Given the description of an element on the screen output the (x, y) to click on. 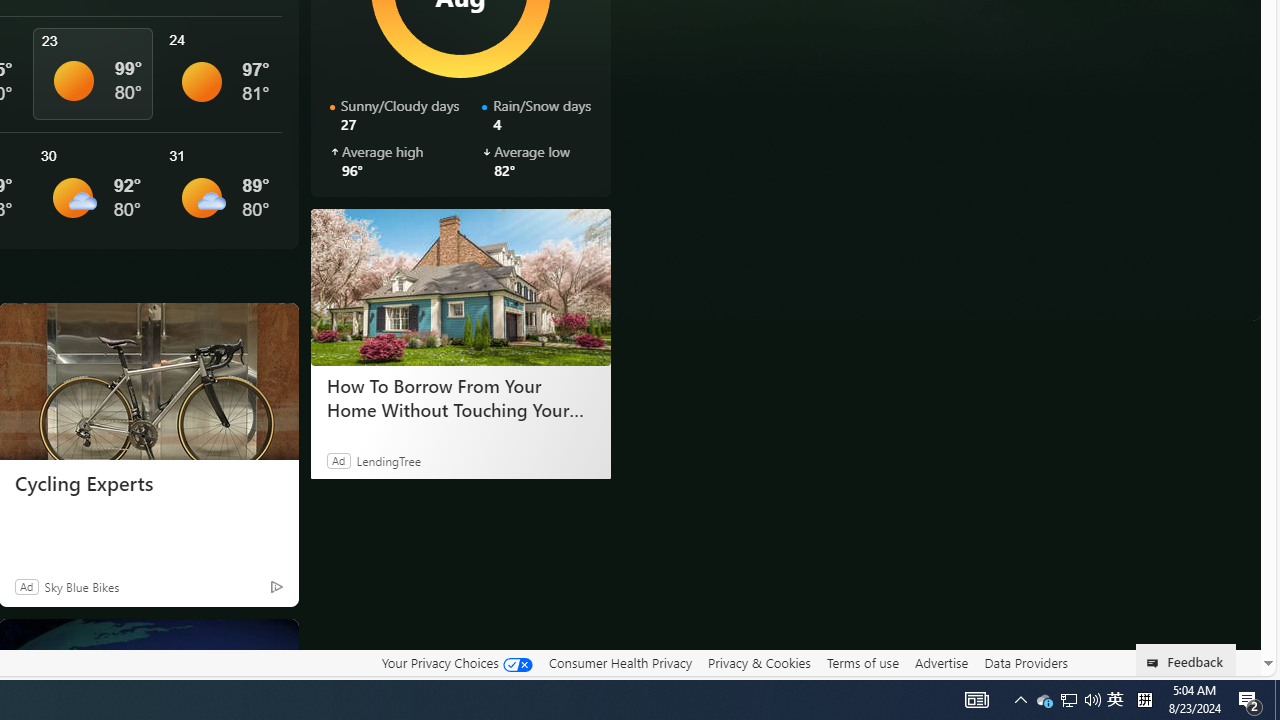
Consumer Health Privacy (619, 662)
